Given the description of an element on the screen output the (x, y) to click on. 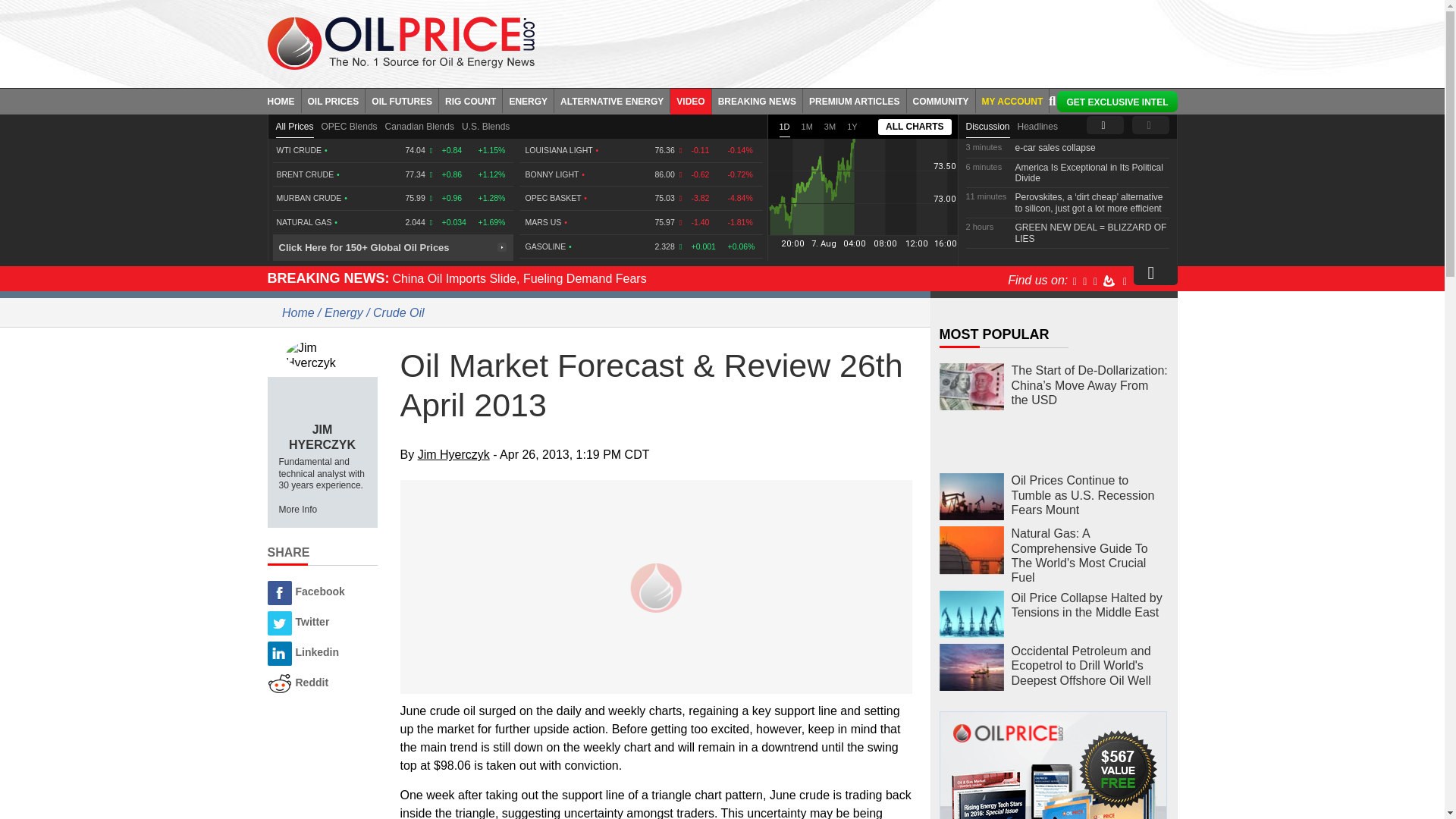
OIL PRICES (333, 100)
Jim Hyerczyk (321, 355)
MY ACCOUNT (1012, 100)
Oil Price Collapse Halted by Tensions in the Middle East (971, 614)
HOME (283, 100)
PREMIUM ARTICLES (855, 100)
OIL FUTURES (402, 100)
RIG COUNT (470, 100)
BREAKING NEWS (757, 100)
